Given the description of an element on the screen output the (x, y) to click on. 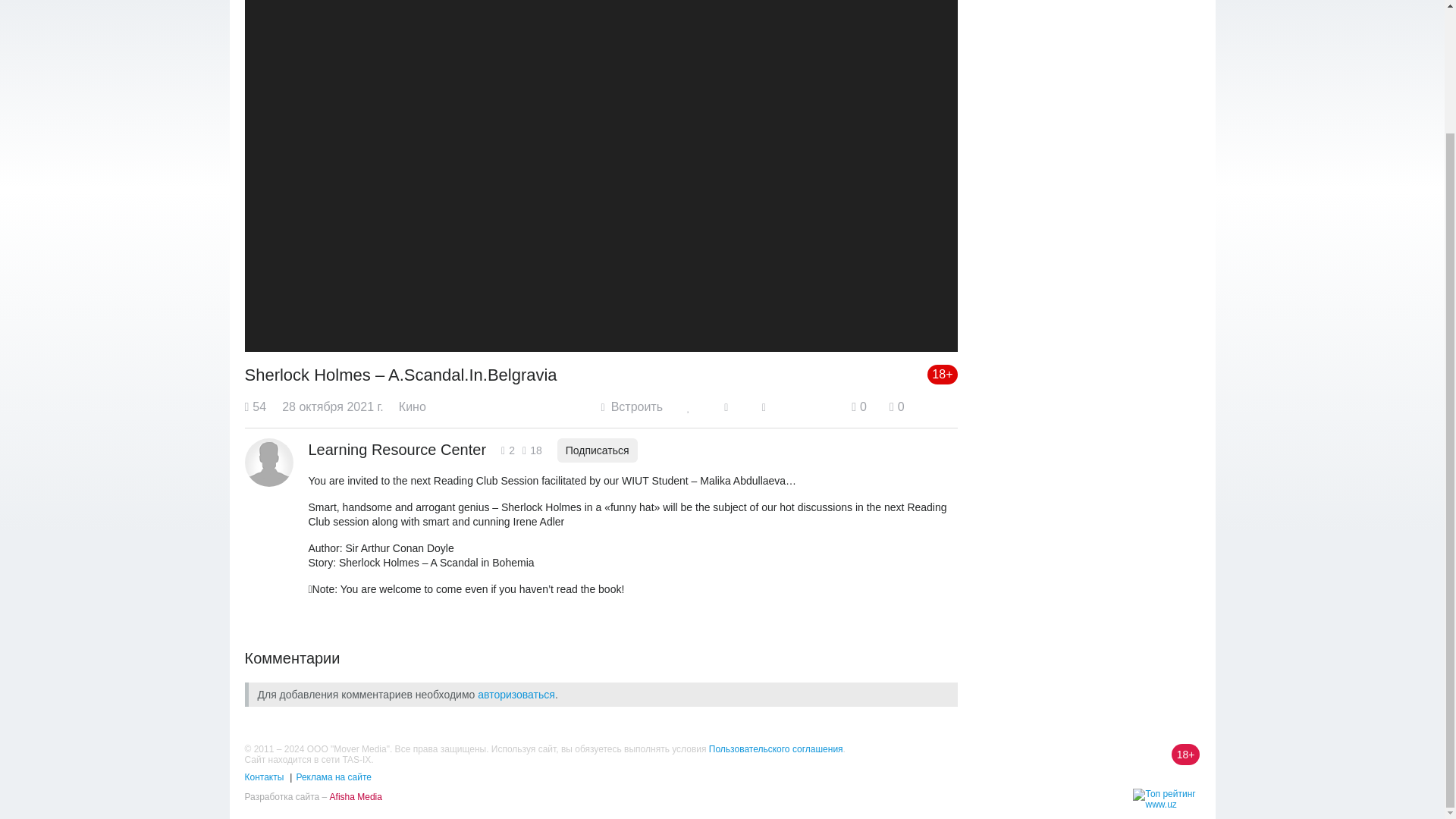
0 (896, 406)
Learning Resource Center (396, 449)
0 (858, 406)
Afisha Media (355, 796)
